Given the description of an element on the screen output the (x, y) to click on. 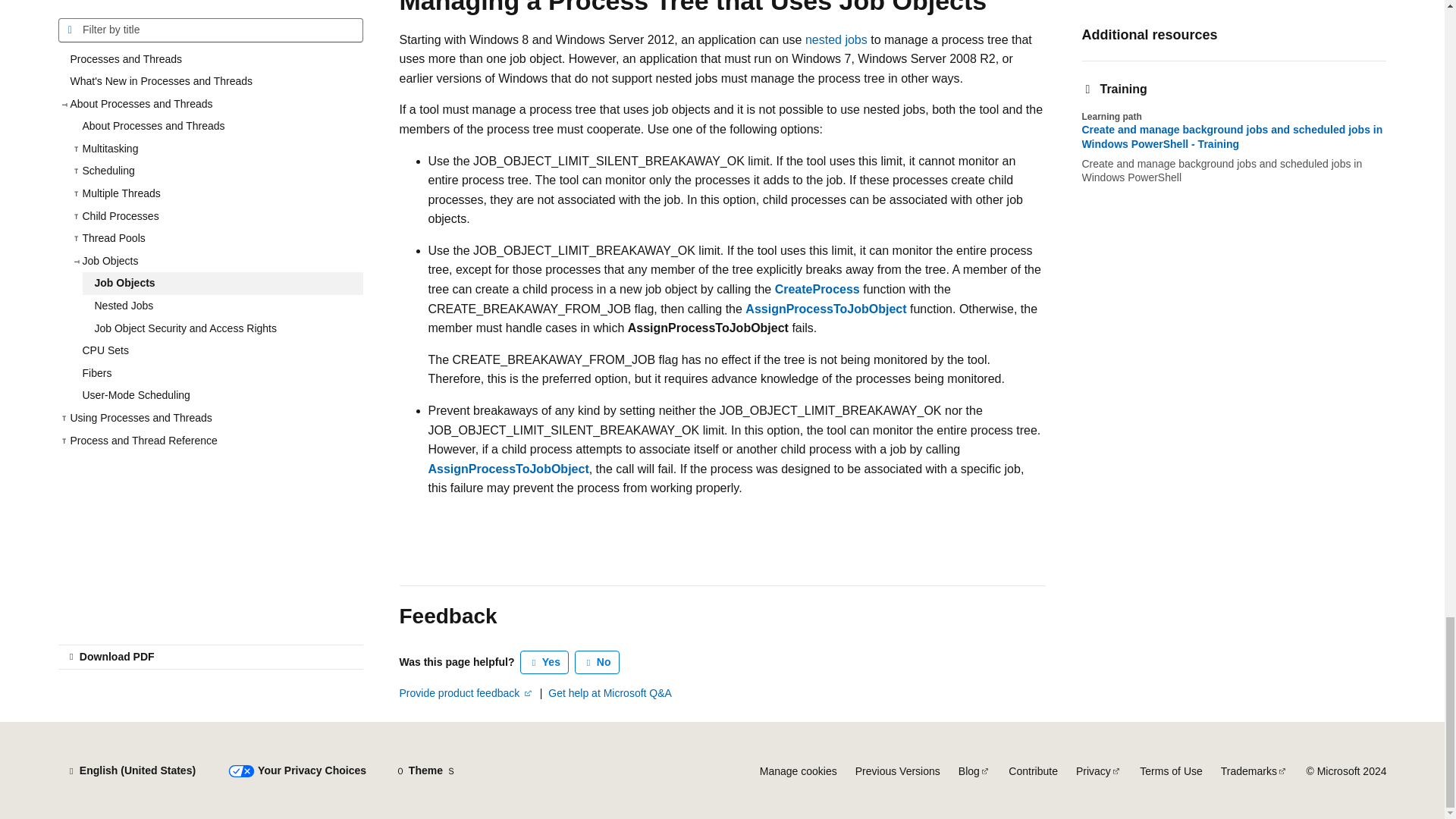
This article is not helpful (597, 662)
This article is helpful (544, 662)
Theme (425, 770)
